Given the description of an element on the screen output the (x, y) to click on. 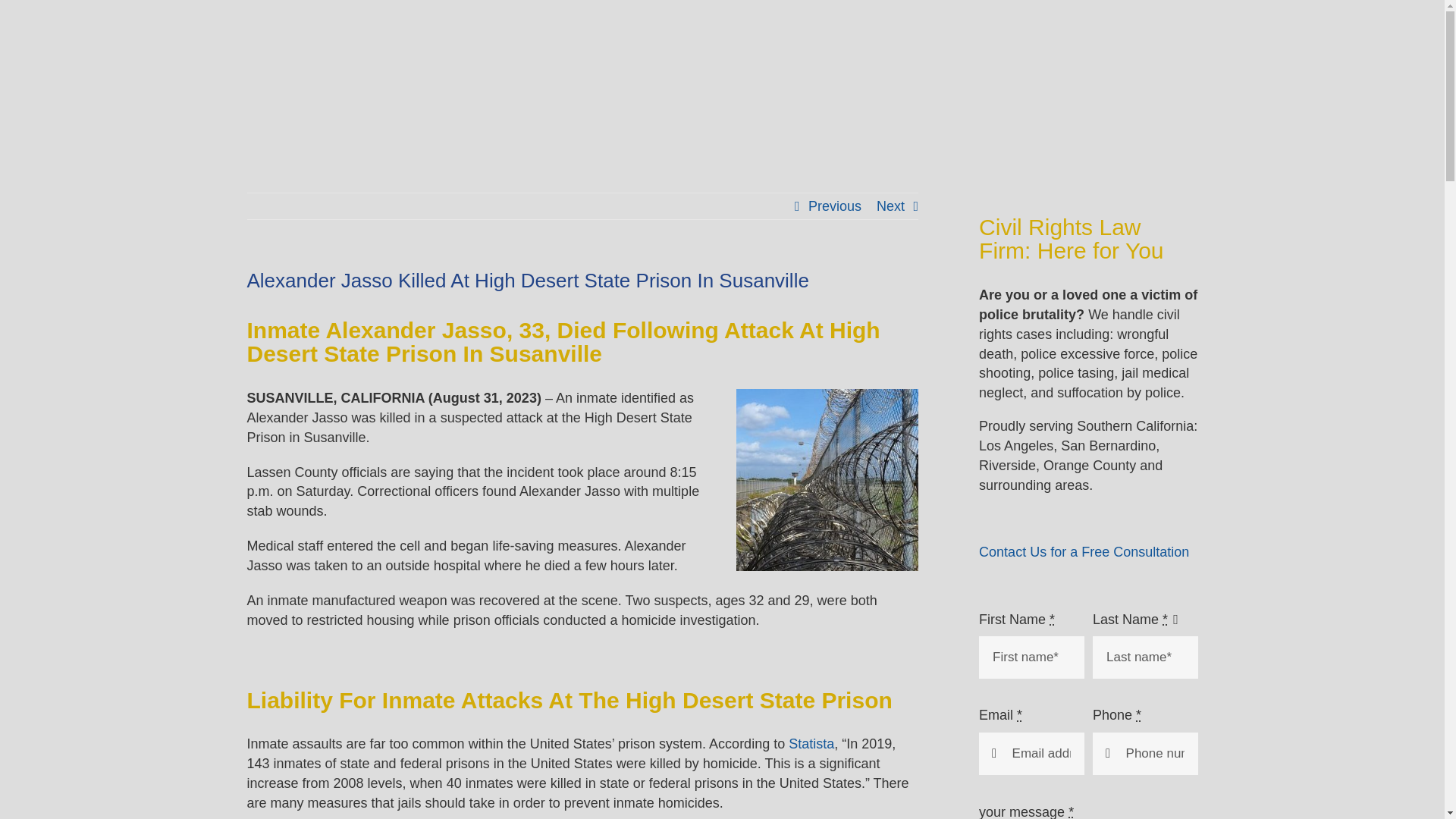
Next (890, 206)
Statista (811, 743)
Previous (834, 206)
